Given the description of an element on the screen output the (x, y) to click on. 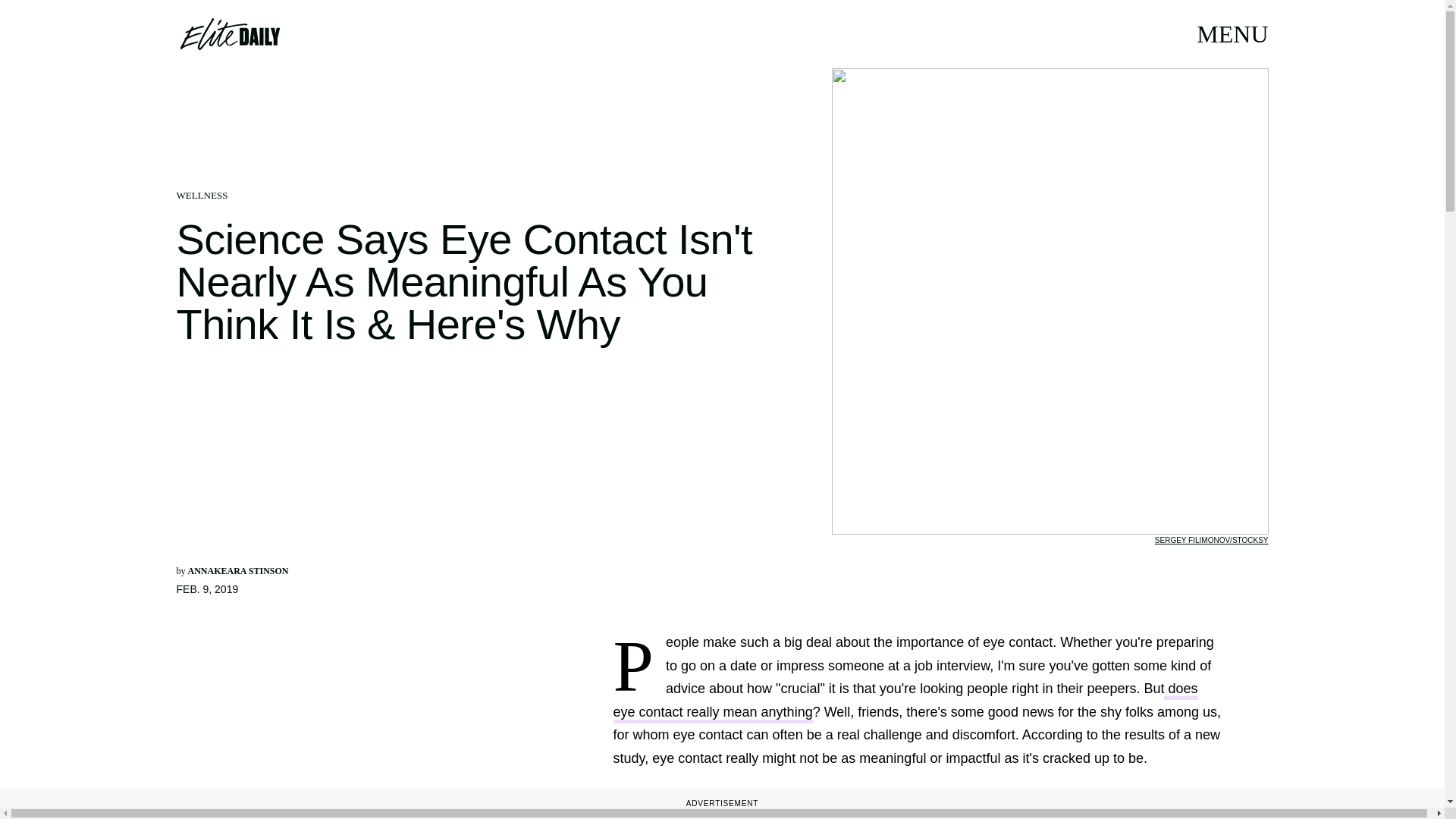
Elite Daily (229, 33)
does eye contact really mean anything (904, 701)
ANNAKEARA STINSON (237, 570)
